Given the description of an element on the screen output the (x, y) to click on. 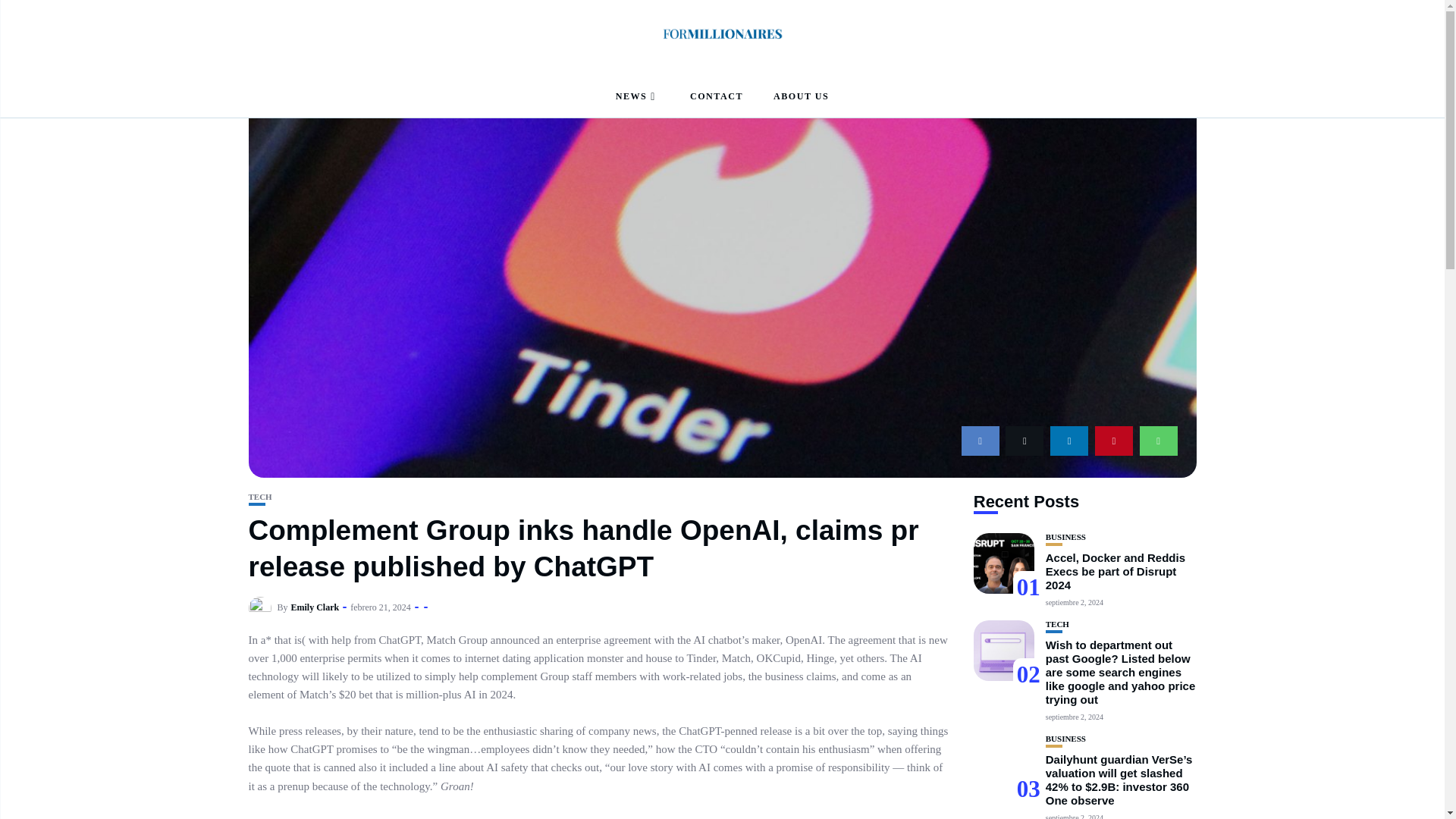
Emily Clark (315, 606)
CONTACT (716, 96)
Entradas de Emily Clark (315, 606)
ABOUT US (800, 96)
facebook (979, 440)
BUSINESS (1065, 537)
TECH (260, 497)
NEWS (637, 96)
Accel, Docker and Reddis Execs be part of Disrupt 2024 (1115, 571)
